Given the description of an element on the screen output the (x, y) to click on. 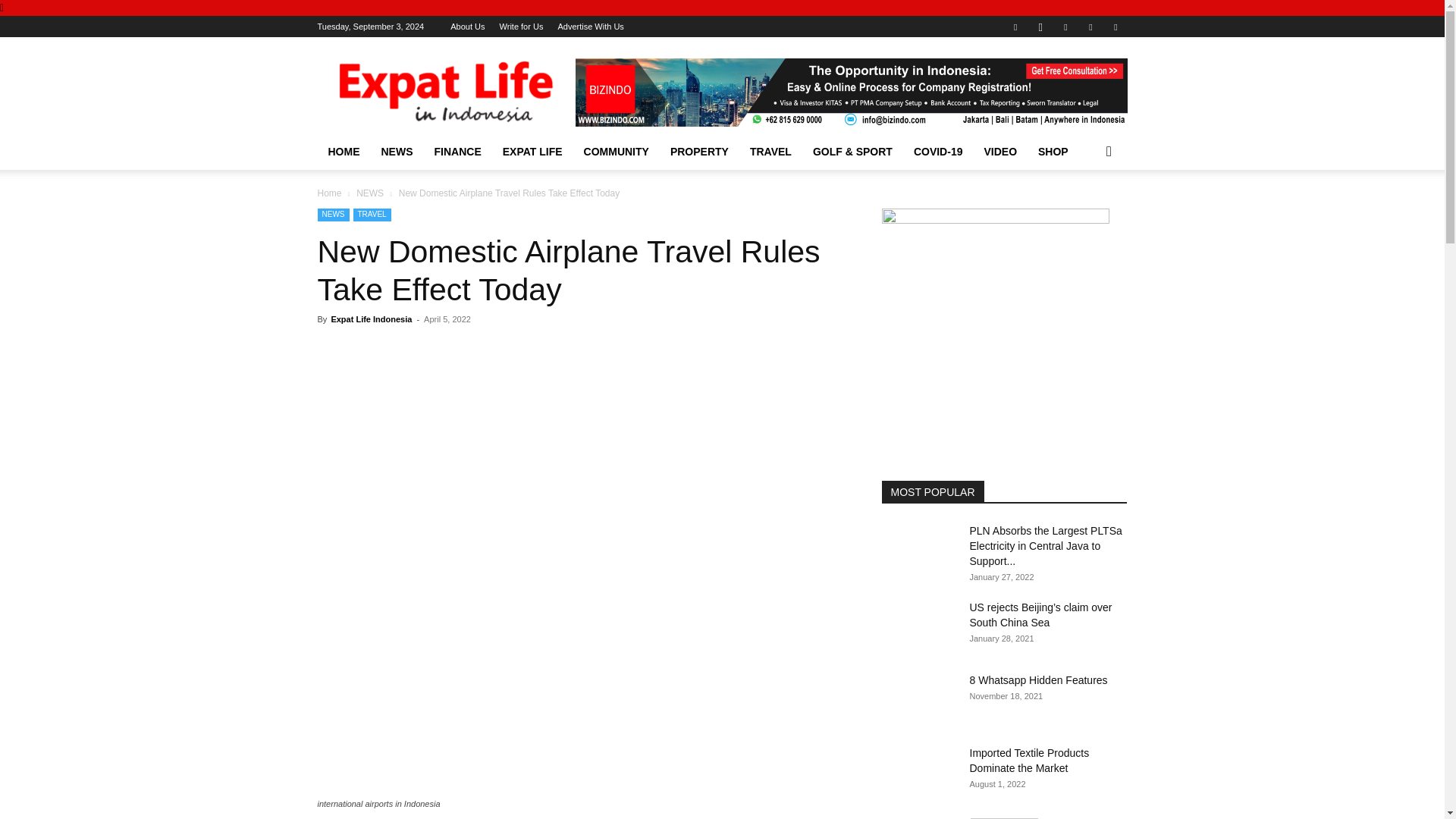
About Us (466, 26)
HOME (343, 151)
Youtube (1114, 25)
Write for Us (521, 26)
Linkedin (1065, 25)
Advertise With Us (590, 26)
Twitter (1090, 25)
Facebook (1015, 25)
Instagram (1040, 25)
